Given the description of an element on the screen output the (x, y) to click on. 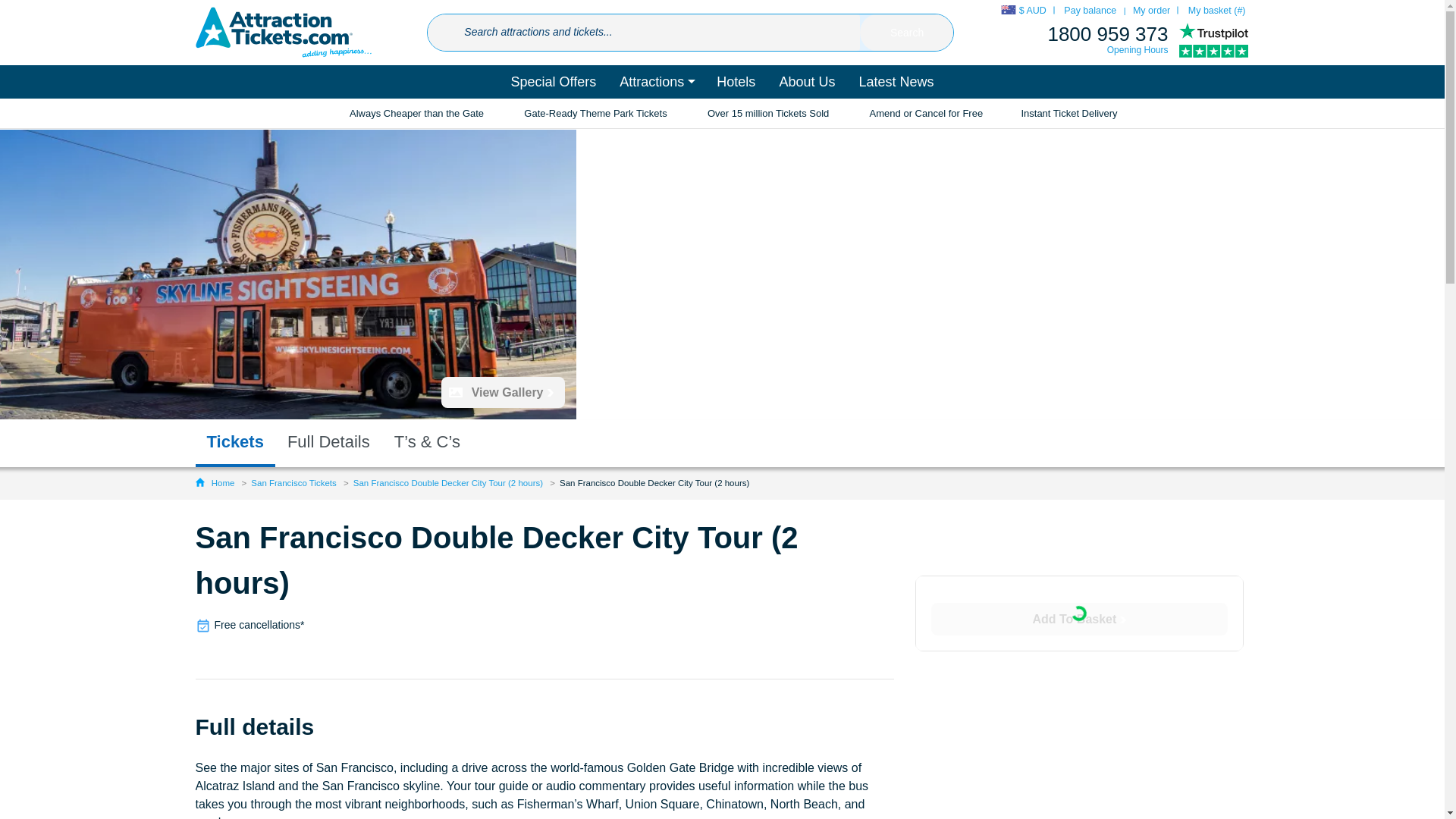
Hotels (735, 81)
1800 959 373 (1106, 34)
Latest News (895, 81)
Search (906, 32)
Search (906, 32)
About Us (806, 81)
Attractions (656, 81)
Special Offers (553, 81)
Search (906, 32)
